Given the description of an element on the screen output the (x, y) to click on. 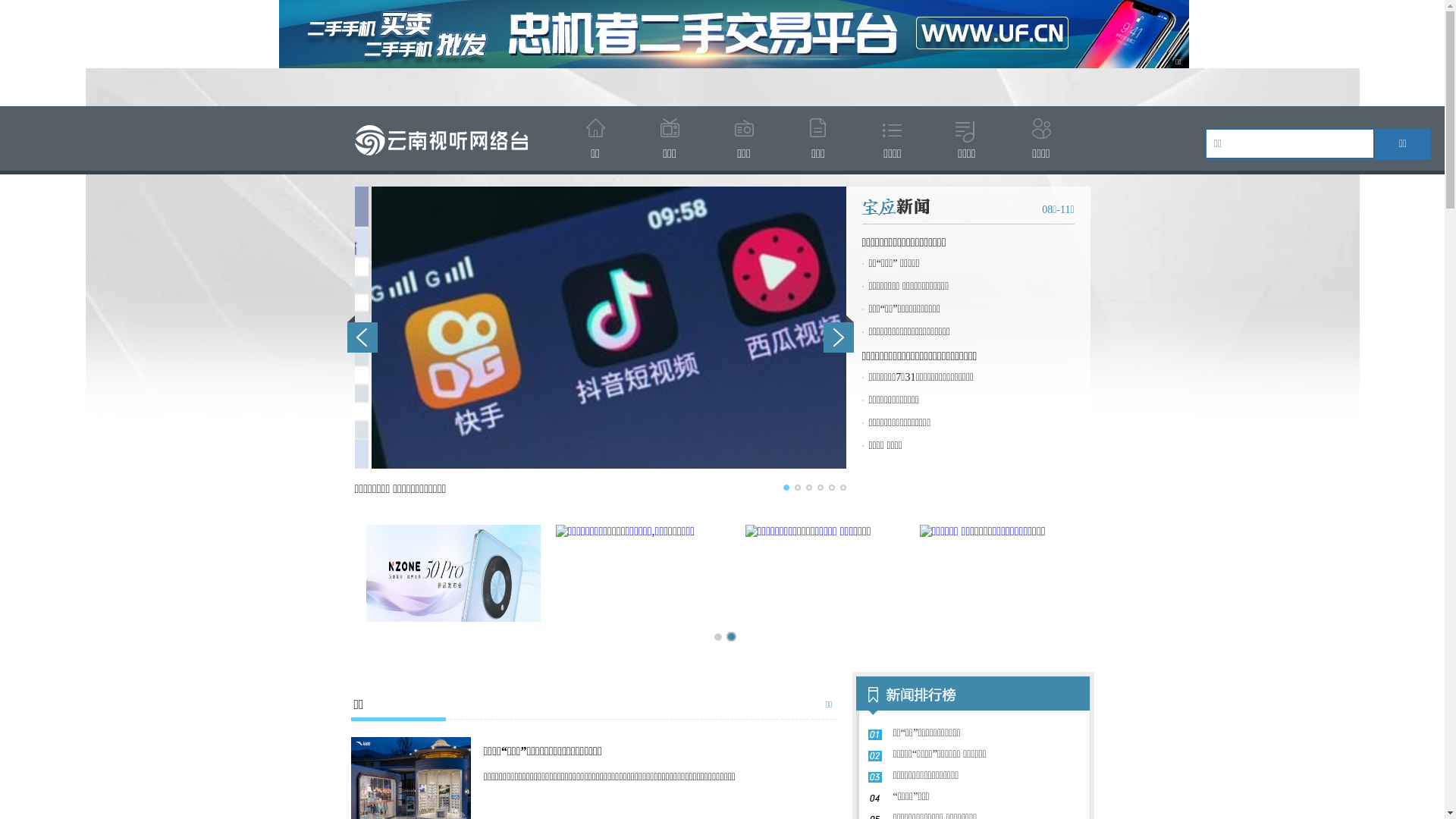
6 Element type: text (843, 487)
5 Element type: text (831, 487)
3 Element type: text (808, 487)
2 Element type: text (797, 487)
4 Element type: text (820, 487)
1 Element type: text (785, 487)
